Given the description of an element on the screen output the (x, y) to click on. 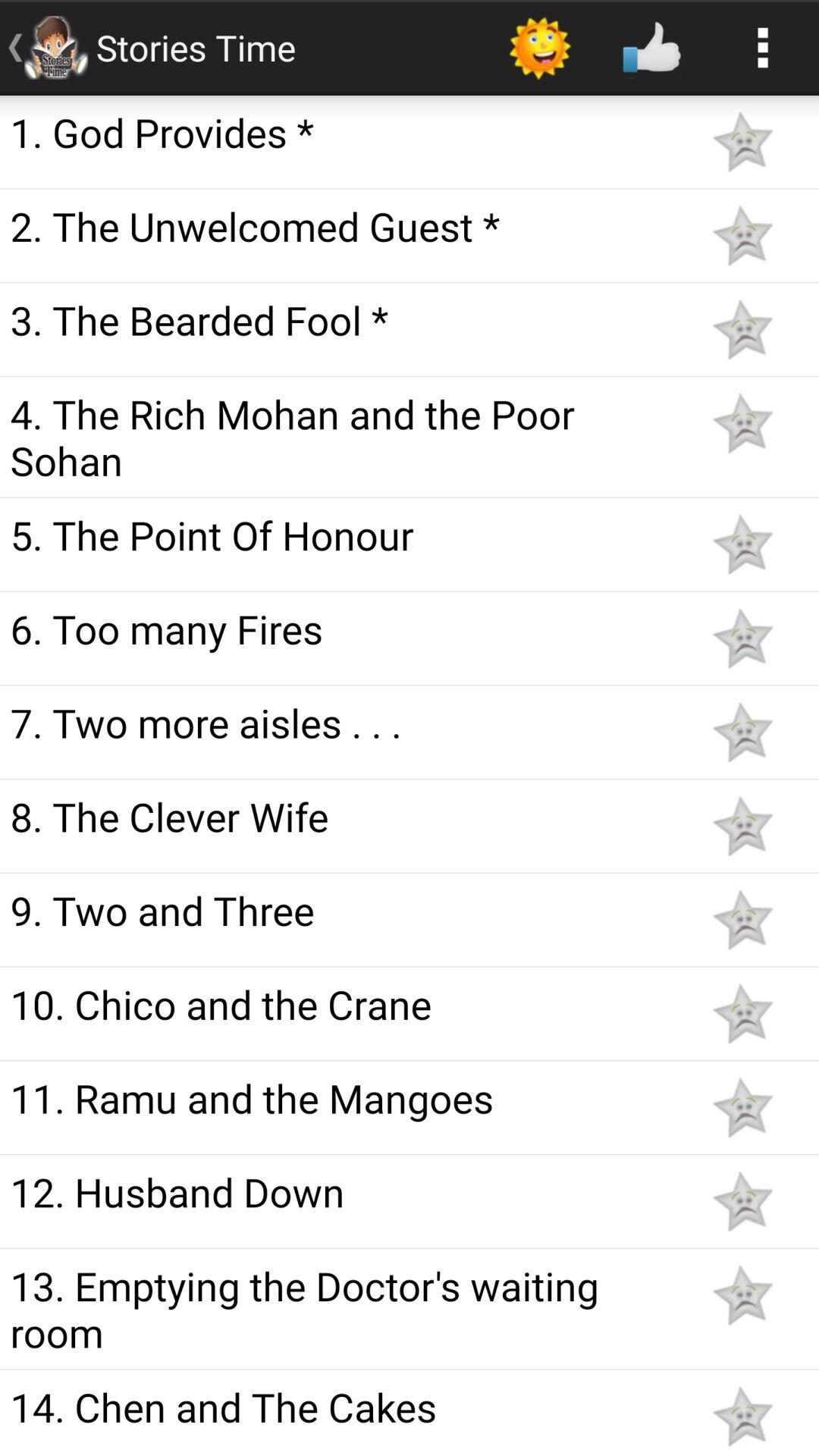
turn off item above 11 ramu and item (343, 1003)
